Given the description of an element on the screen output the (x, y) to click on. 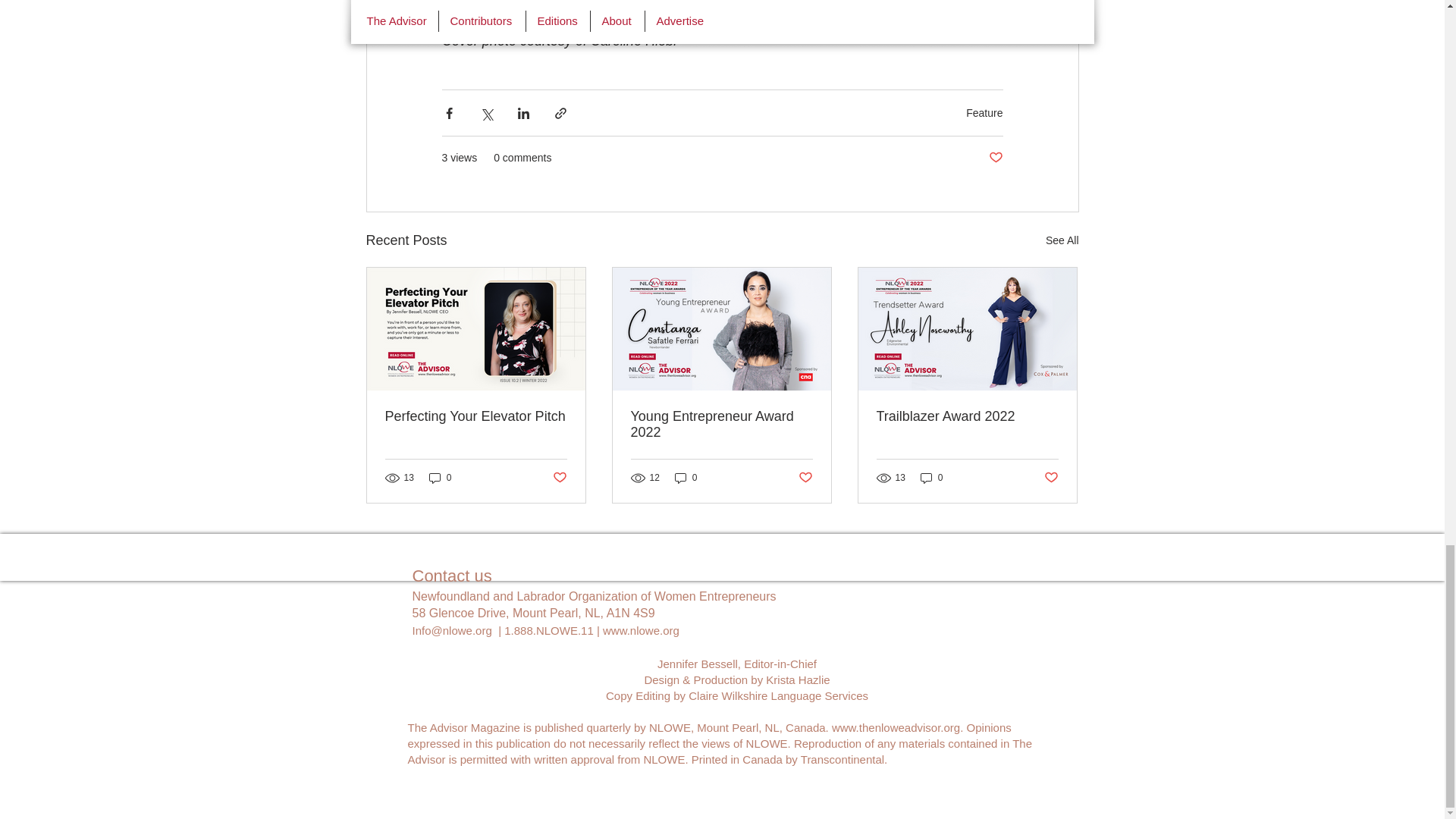
Perfecting Your Elevator Pitch (476, 416)
Post not marked as liked (1050, 478)
Post not marked as liked (804, 478)
Young Entrepreneur Award 2022 (721, 424)
Feature (984, 112)
Post not marked as liked (995, 157)
See All (1061, 240)
Trailblazer Award 2022 (967, 416)
0 (440, 477)
0 (685, 477)
